Given the description of an element on the screen output the (x, y) to click on. 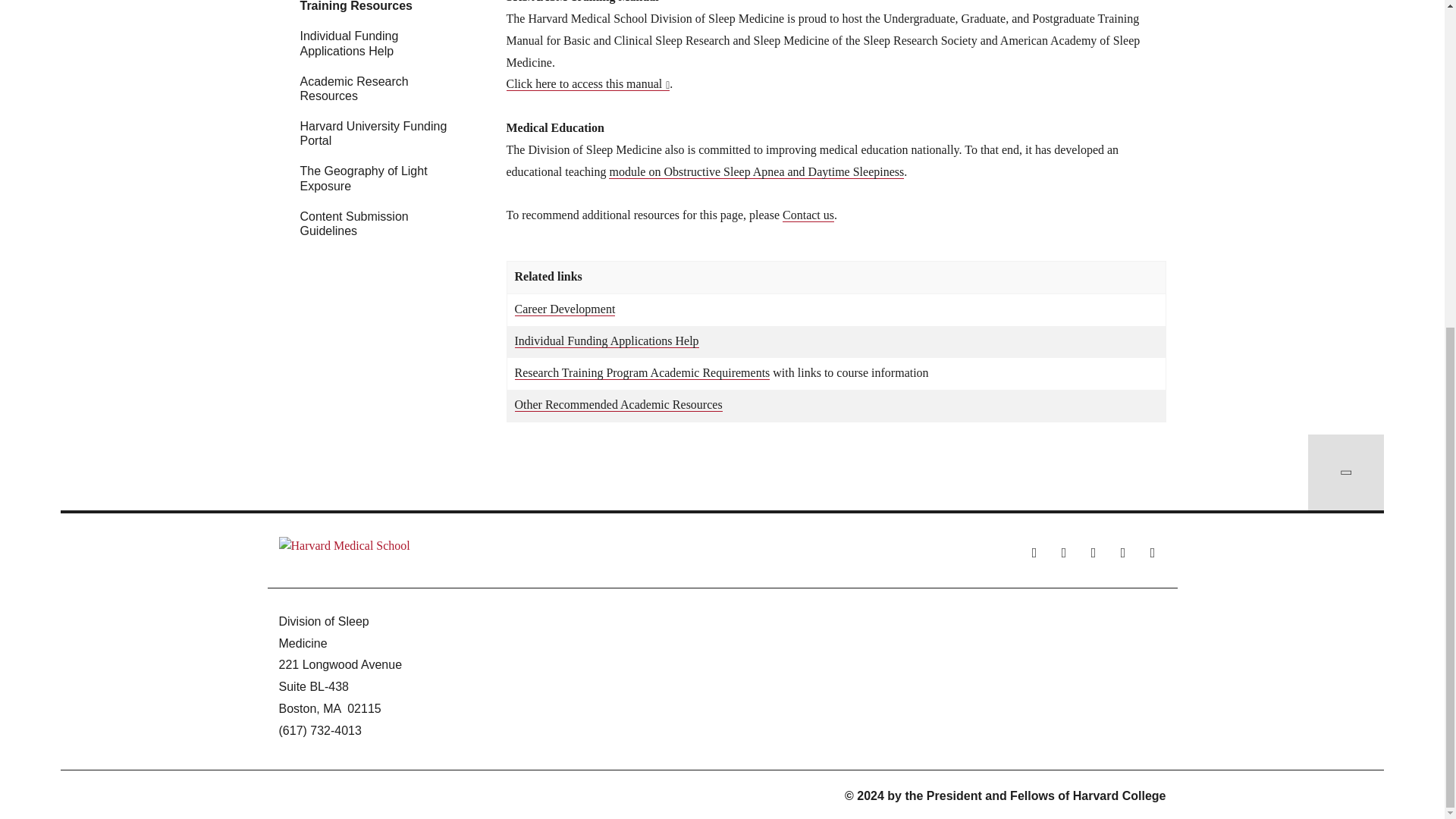
Academic Requirements (641, 373)
Contact Us (808, 214)
Career Development (563, 309)
Link to OSA Module (756, 172)
Academic Research Resources (617, 404)
Individual Funding Applications Help (605, 341)
